Given the description of an element on the screen output the (x, y) to click on. 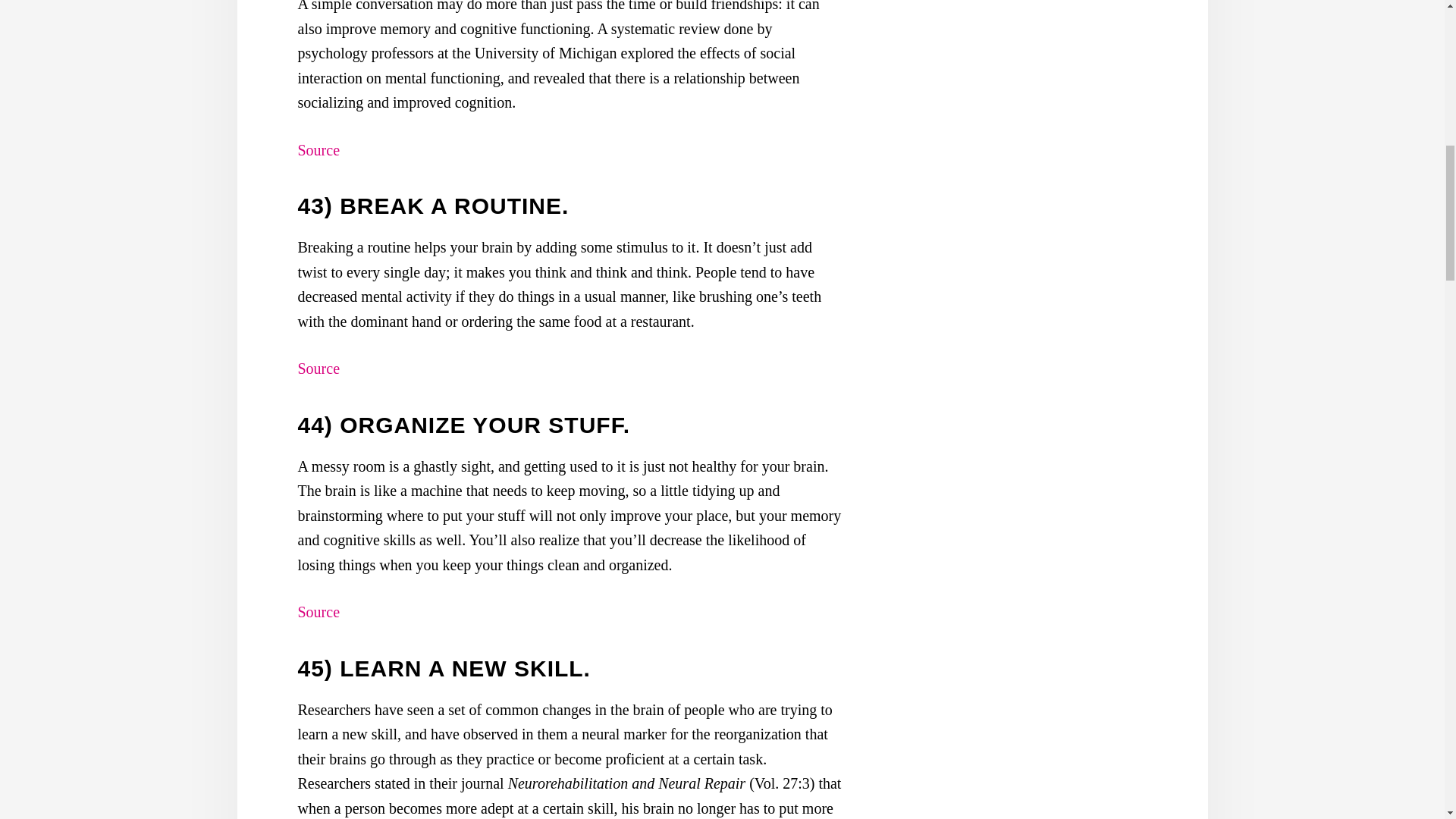
Source (318, 368)
Source (318, 149)
Source (318, 611)
